Given the description of an element on the screen output the (x, y) to click on. 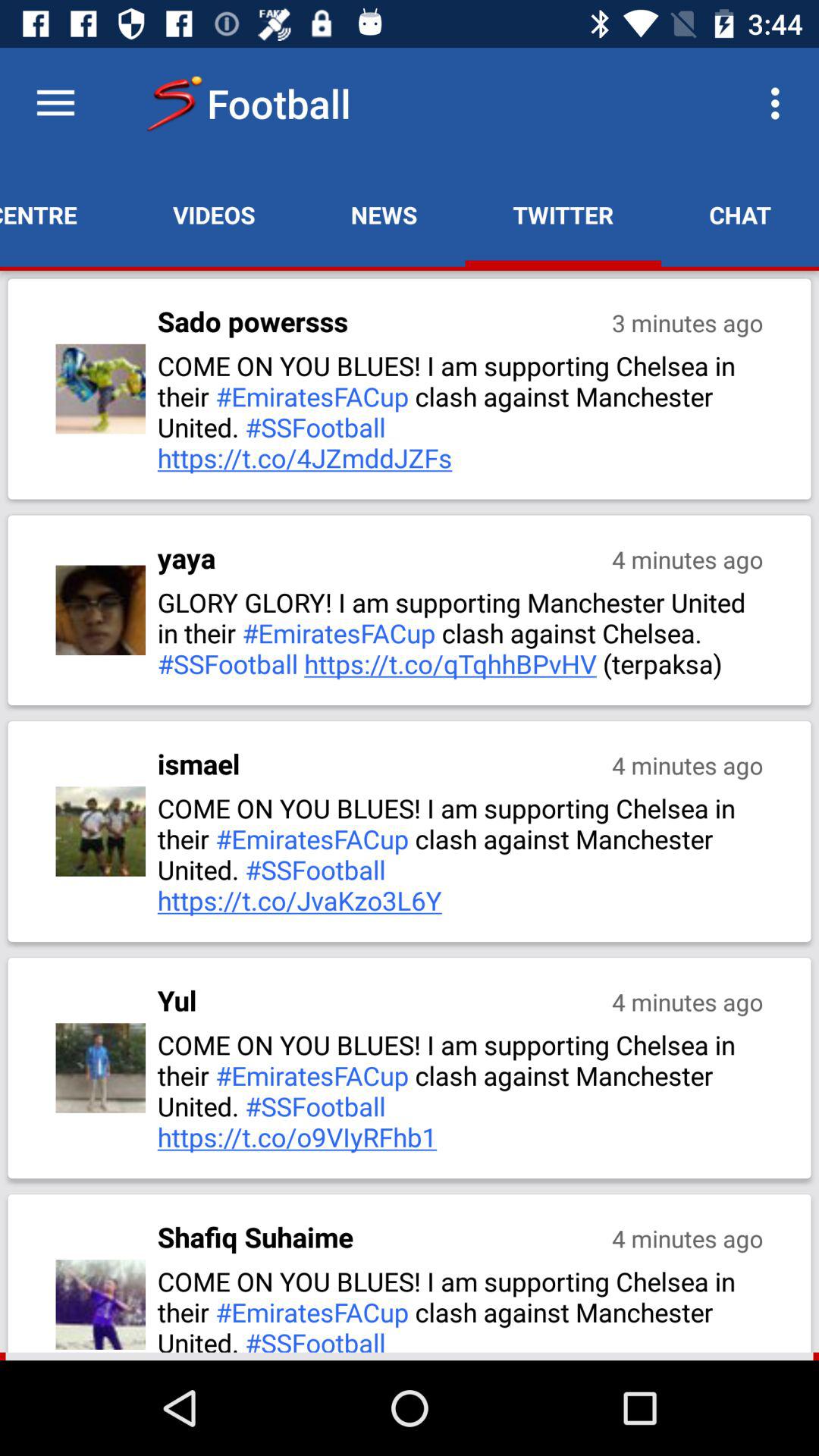
flip to match centre (62, 214)
